Given the description of an element on the screen output the (x, y) to click on. 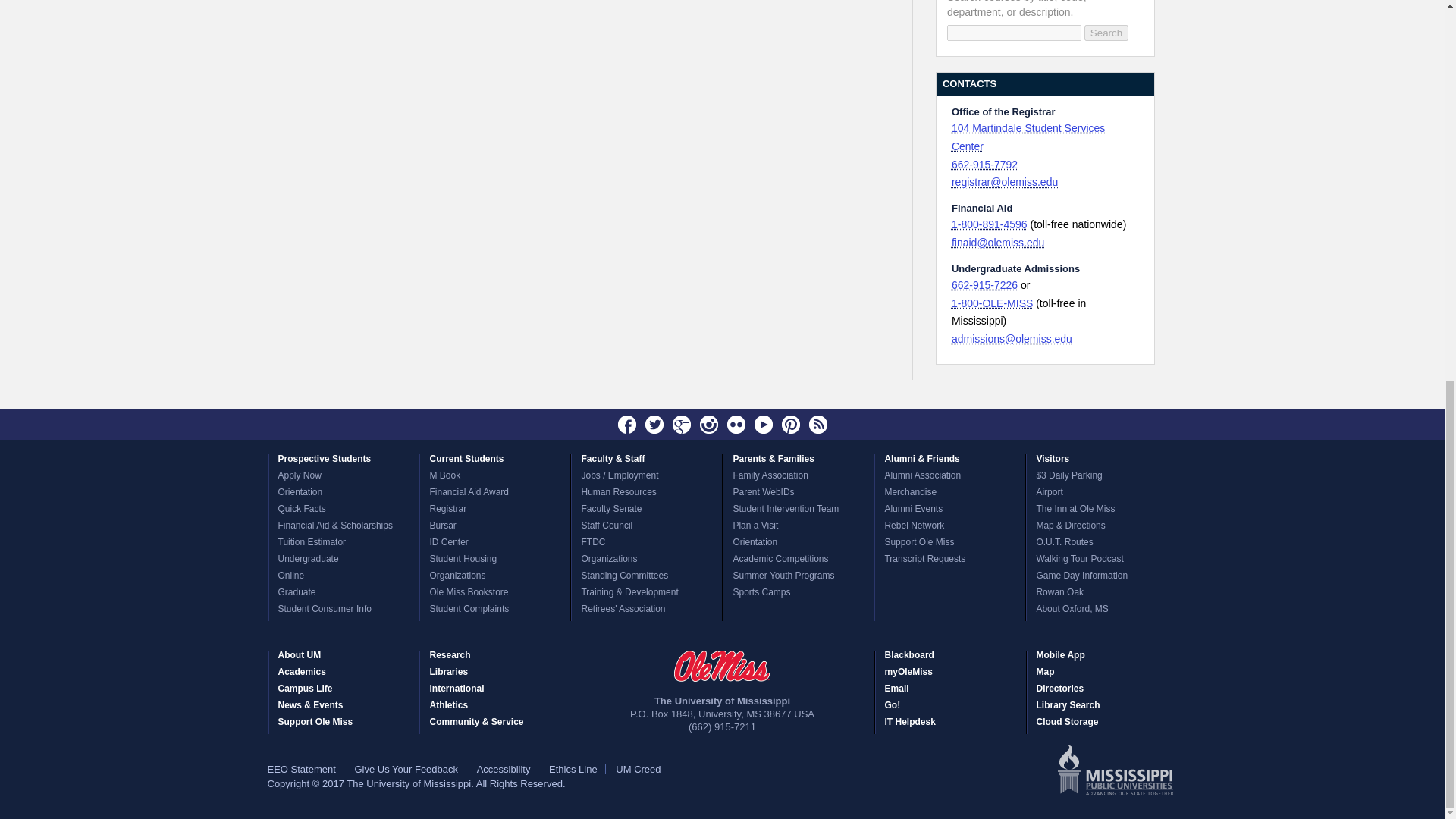
Flickr (735, 424)
Search (1106, 32)
Youtube (763, 424)
Twitter (654, 424)
News Feed (818, 424)
Instagram (708, 424)
Pinterest (790, 424)
Facebook (627, 424)
